Given the description of an element on the screen output the (x, y) to click on. 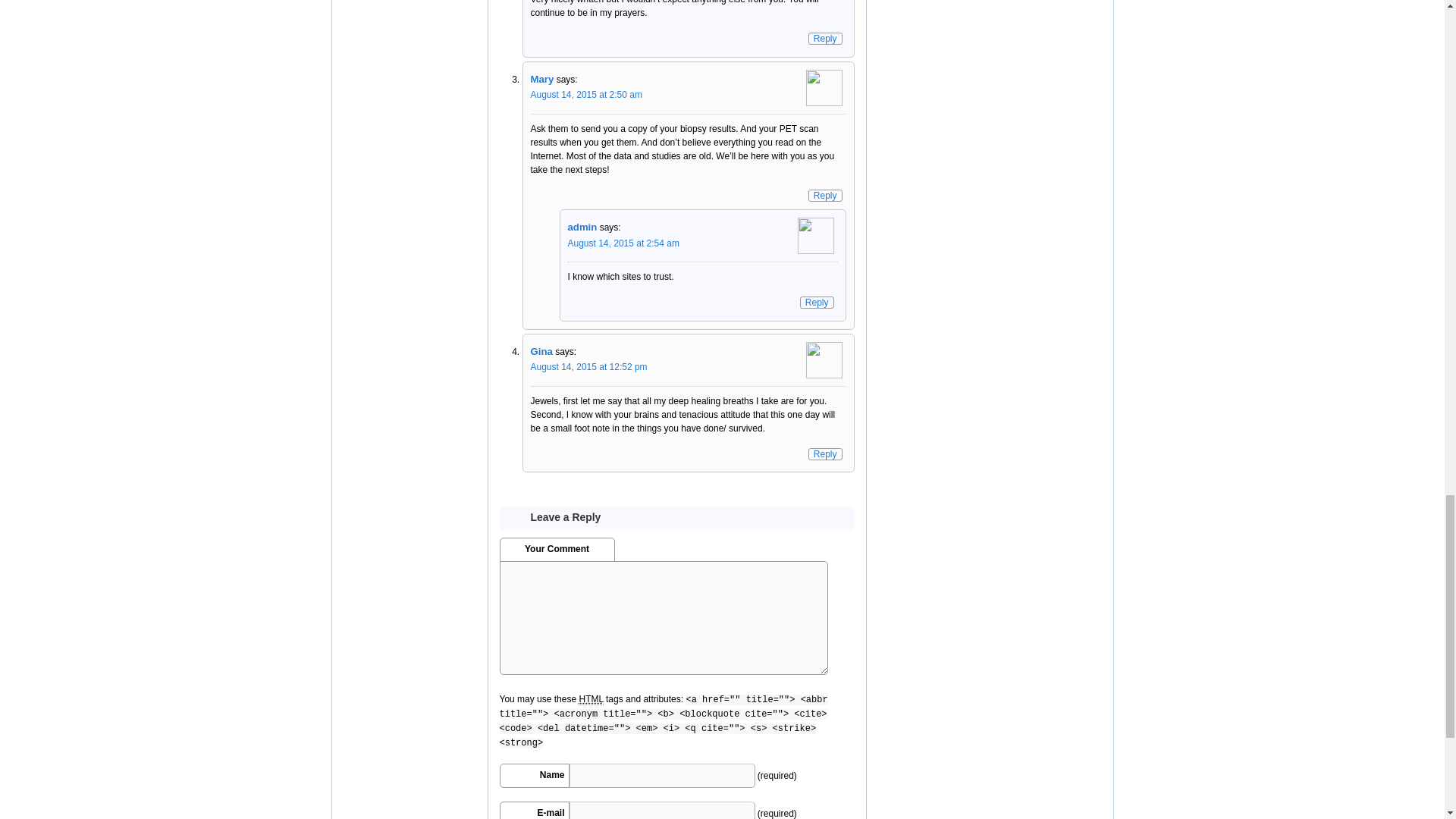
August 14, 2015 at 2:54 am (622, 243)
Reply (825, 195)
Reply (825, 453)
HyperText Markup Language (590, 699)
August 14, 2015 at 12:52 pm (589, 366)
Reply (825, 38)
August 14, 2015 at 2:50 am (586, 94)
Reply (816, 302)
